Given the description of an element on the screen output the (x, y) to click on. 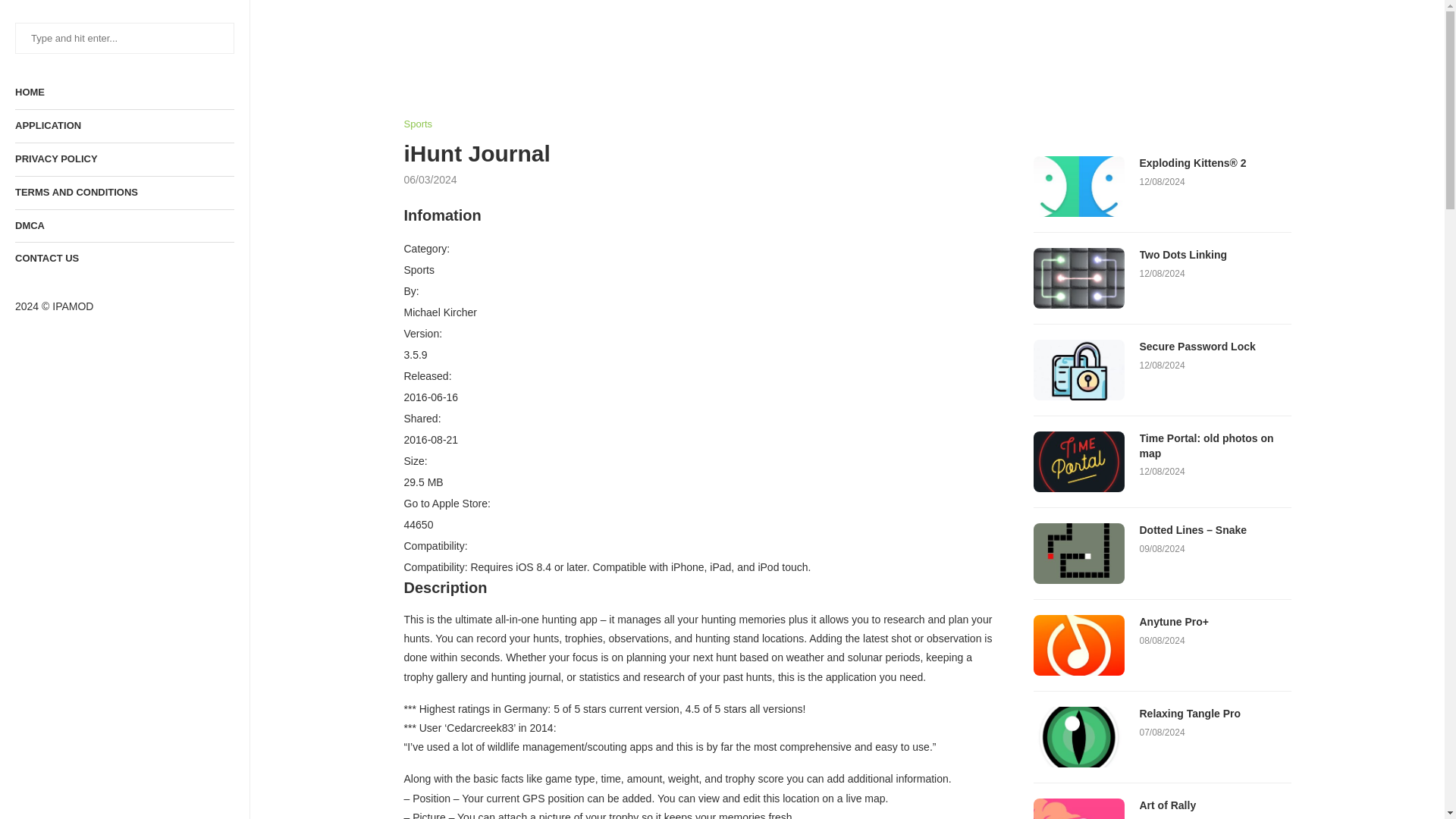
TERMS AND CONDITIONS (124, 192)
Two Dots Linking (1078, 278)
APPLICATION (124, 125)
CONTACT US (124, 258)
PRIVACY POLICY (124, 159)
Sports (417, 123)
HOME (124, 92)
DMCA (124, 225)
